Given the description of an element on the screen output the (x, y) to click on. 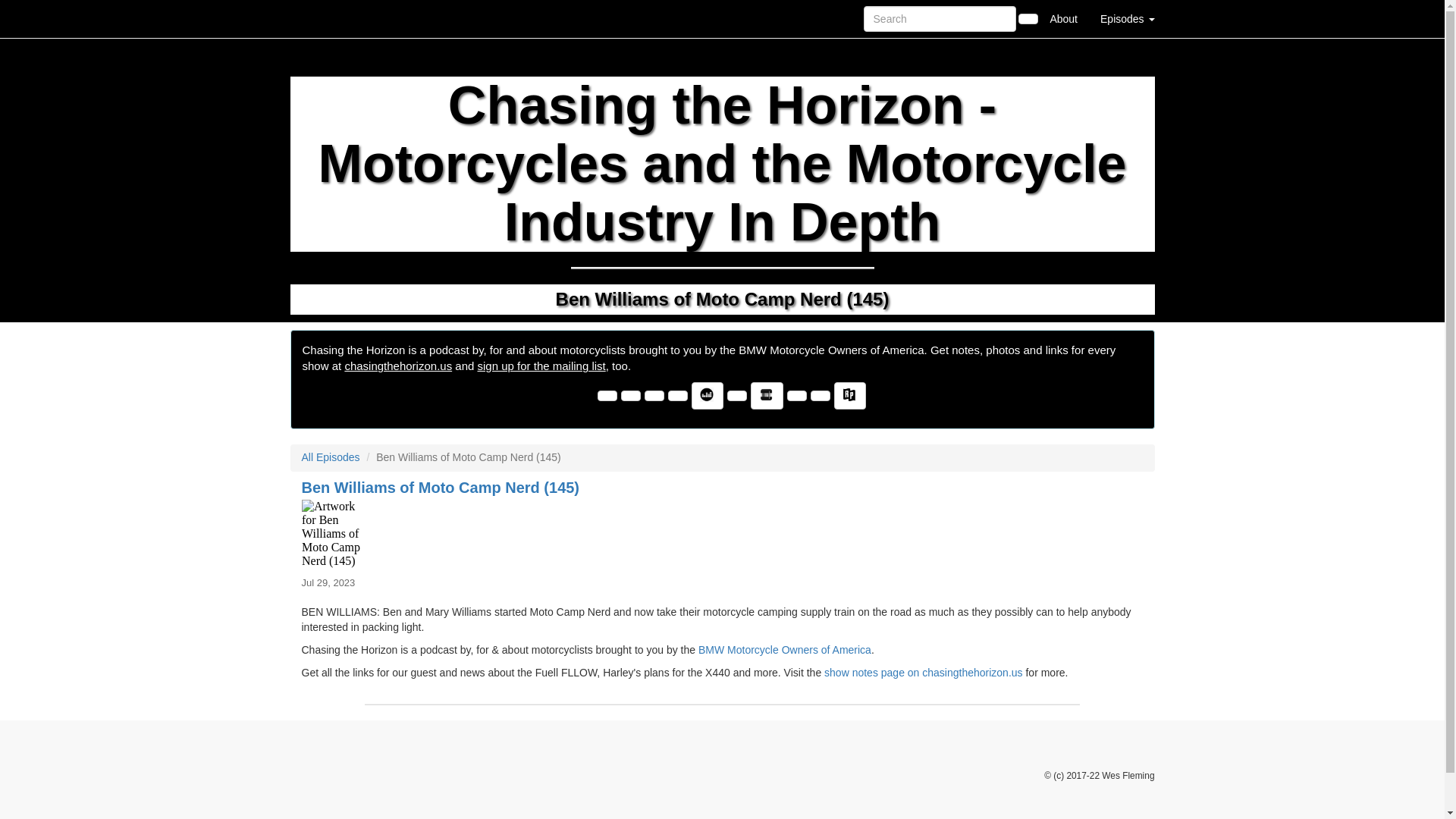
About (1063, 18)
Episodes (1127, 18)
Home Page (320, 18)
